Given the description of an element on the screen output the (x, y) to click on. 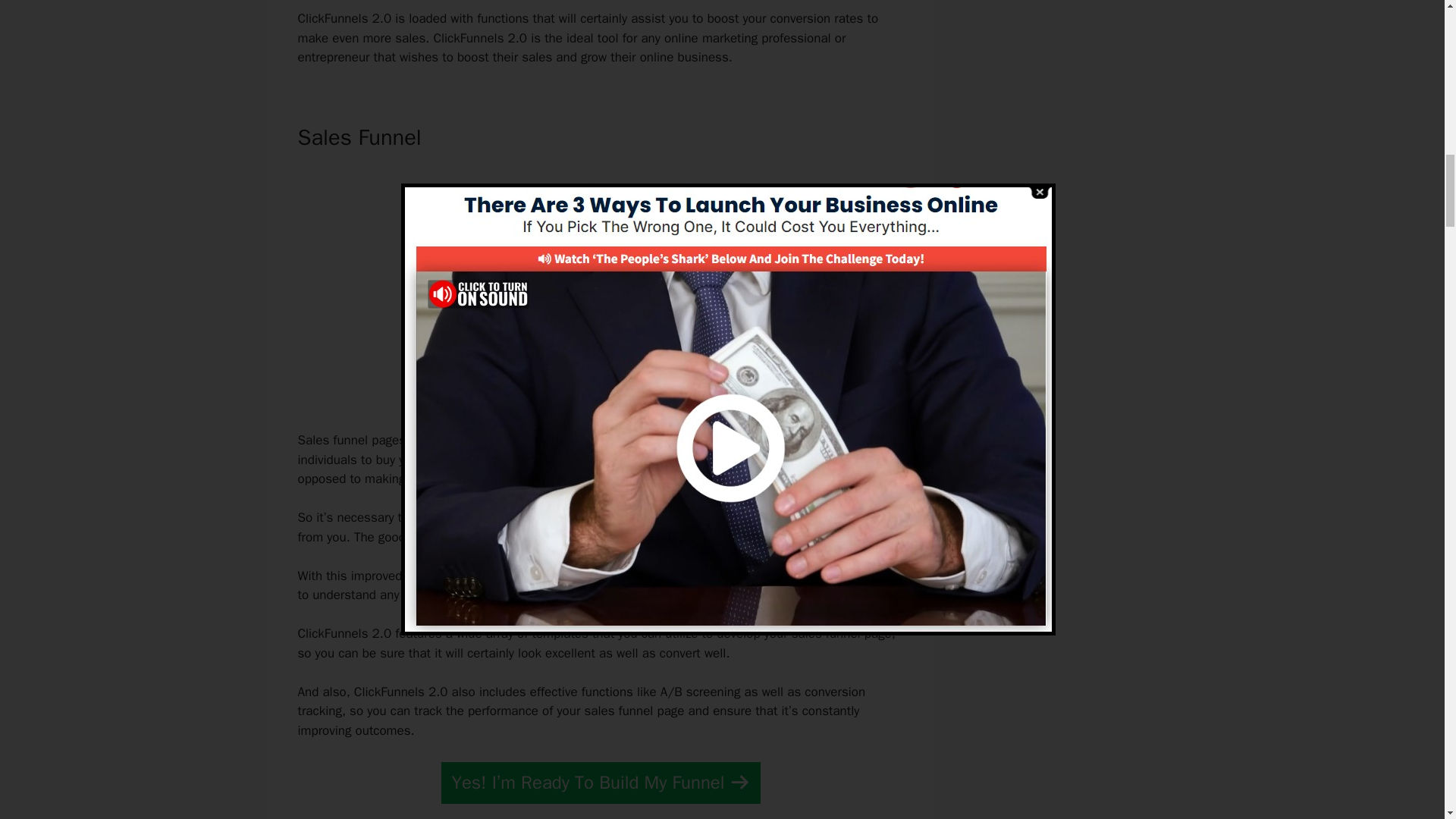
YouTube video player (596, 286)
